Given the description of an element on the screen output the (x, y) to click on. 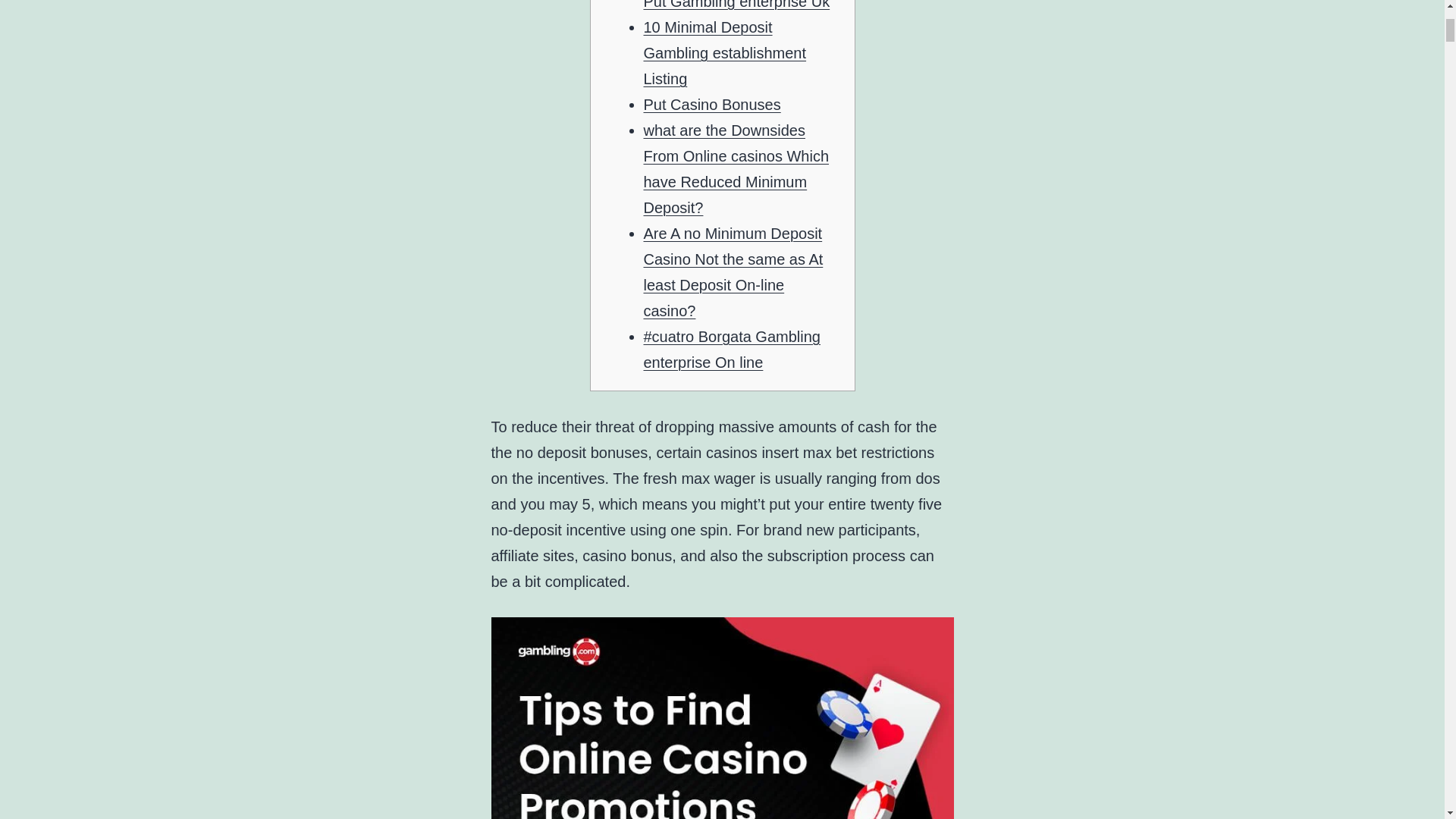
Put Casino Bonuses (711, 104)
10 Minimal Deposit Gambling establishment Listing (724, 52)
